Given the description of an element on the screen output the (x, y) to click on. 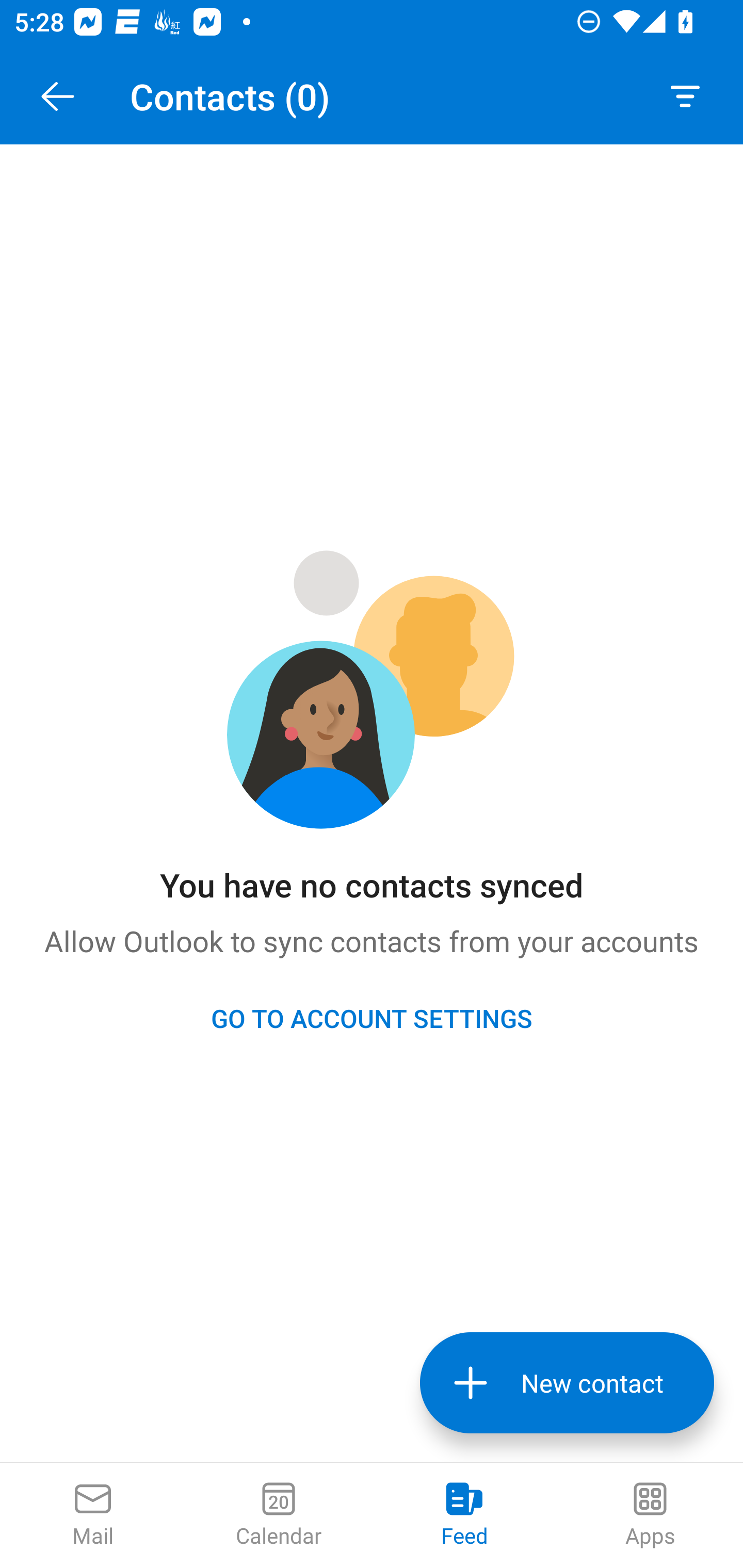
Back (57, 96)
Filter (684, 96)
GO TO ACCOUNT SETTINGS (371, 1018)
New contact (566, 1382)
Mail (92, 1515)
Calendar (278, 1515)
Apps (650, 1515)
